Given the description of an element on the screen output the (x, y) to click on. 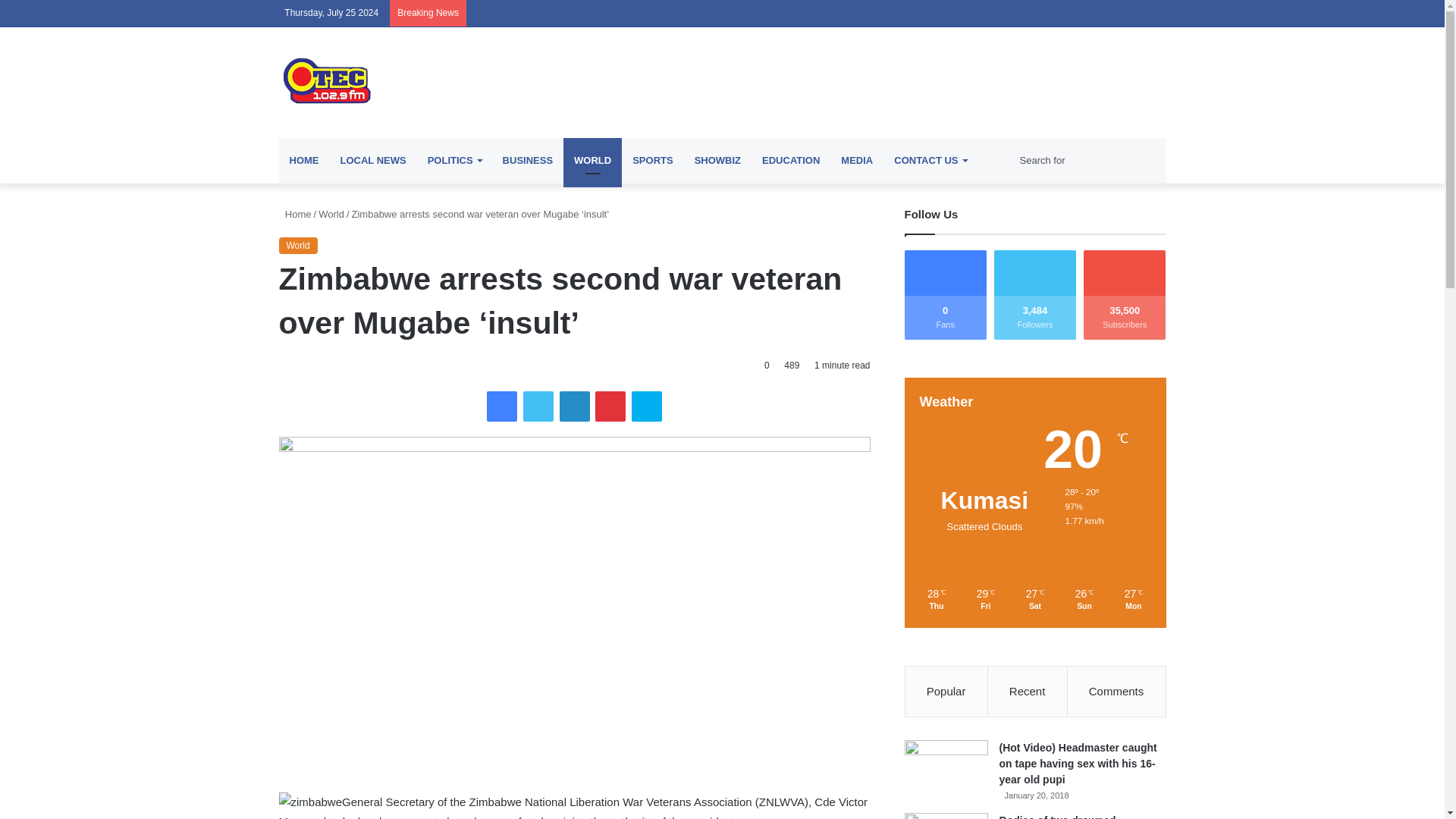
SPORTS (651, 160)
Search for (1088, 160)
MEDIA (856, 160)
LinkedIn (574, 406)
Facebook (501, 406)
HOME (304, 160)
Home (295, 214)
WORLD (592, 160)
LOCAL NEWS (372, 160)
Twitter (537, 406)
BUSINESS (527, 160)
World (330, 214)
CONTACT US (929, 160)
Skype (646, 406)
SHOWBIZ (717, 160)
